Given the description of an element on the screen output the (x, y) to click on. 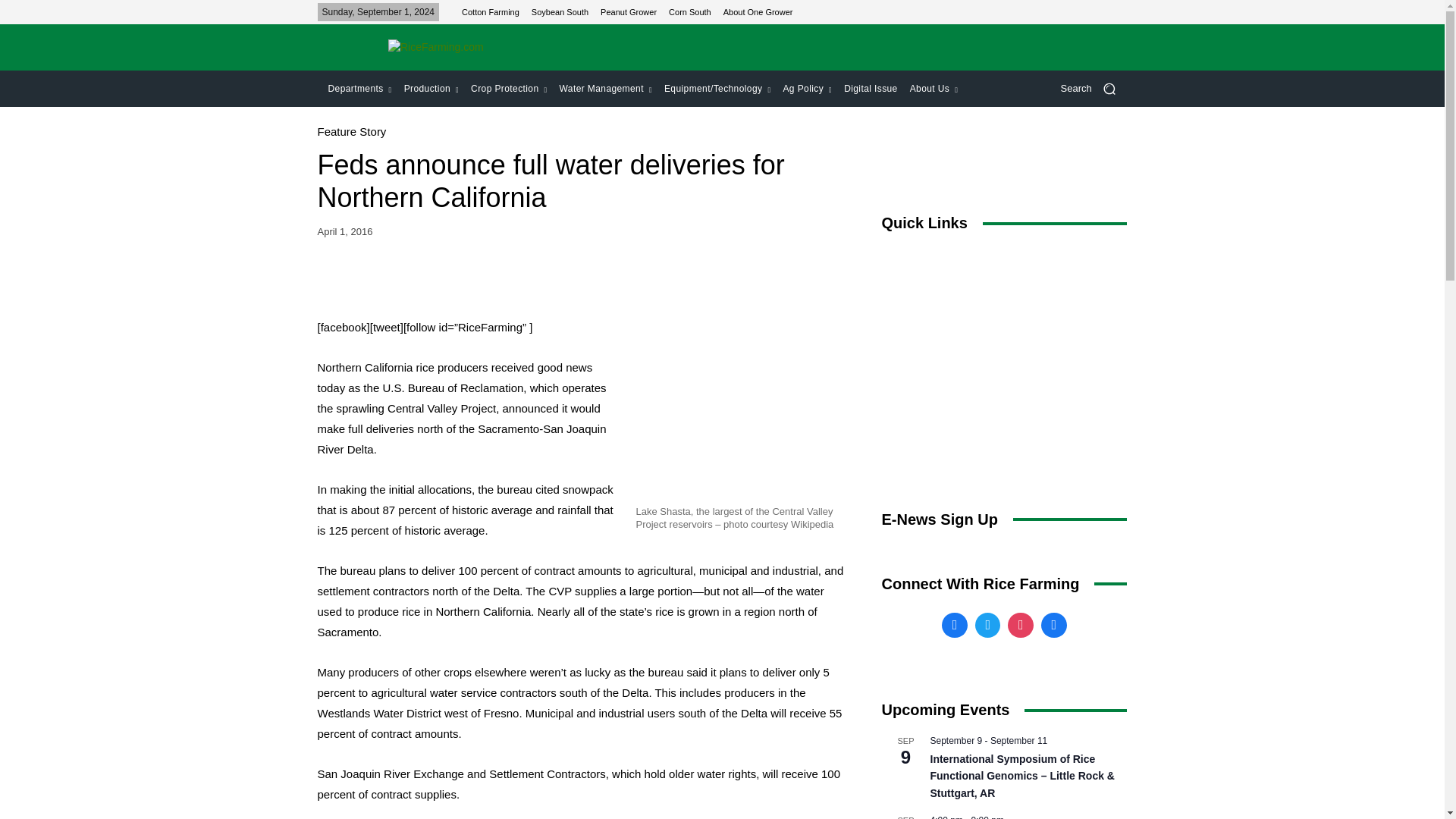
About One Grower (758, 11)
Departments (359, 88)
Peanut Grower (627, 11)
Production (430, 88)
Cotton Farming (490, 11)
Corn South (689, 11)
Soybean South (559, 11)
Rice Farming Header Logo (435, 47)
